Given the description of an element on the screen output the (x, y) to click on. 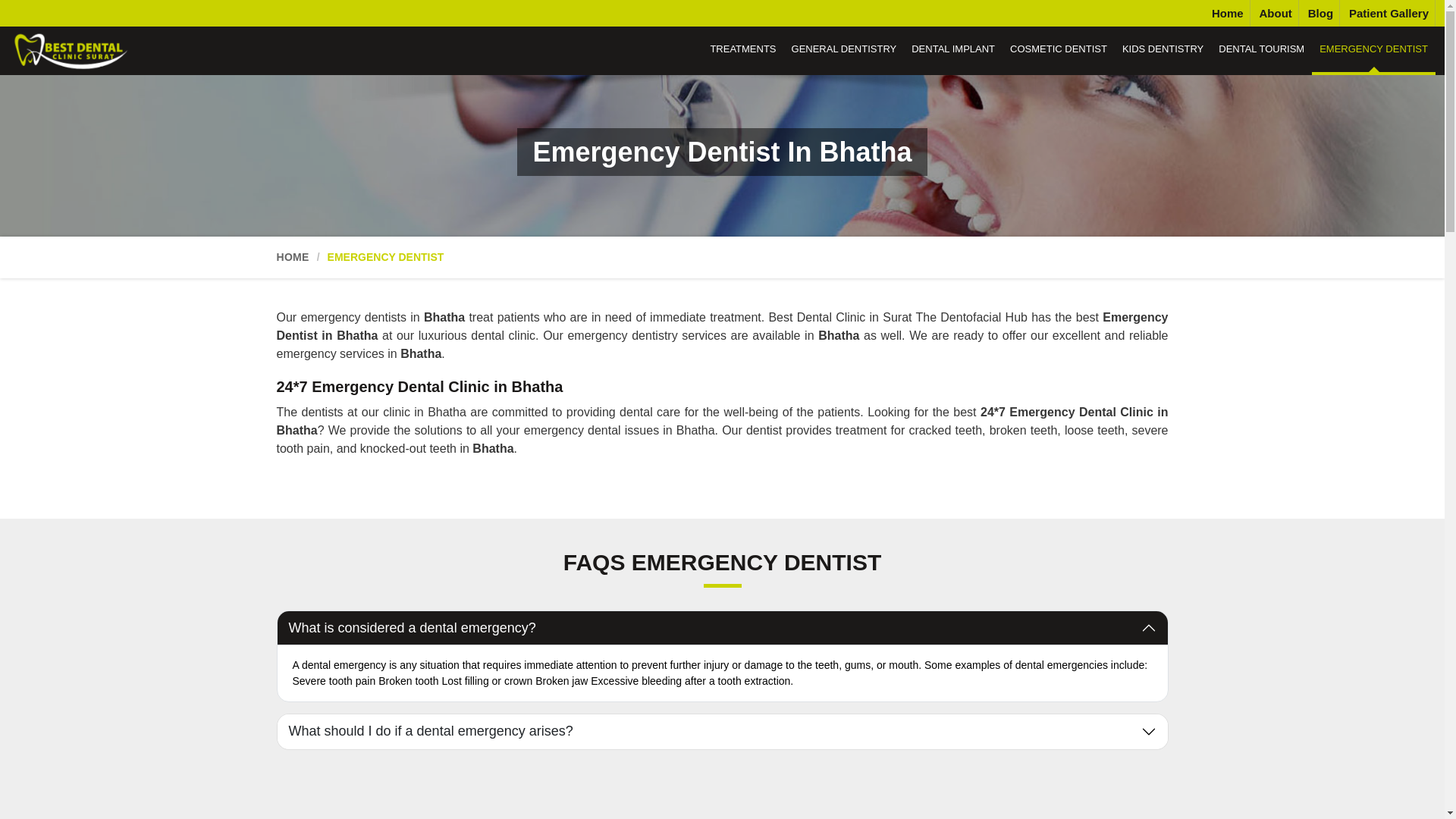
Home (1227, 13)
General Dentistry  (844, 50)
Home (1227, 13)
GENERAL DENTISTRY (844, 50)
Patient Gallery (1388, 13)
About (1275, 13)
About (1275, 13)
Patient Gallery (1388, 13)
Blog (1320, 13)
Treatments  (742, 50)
